Given the description of an element on the screen output the (x, y) to click on. 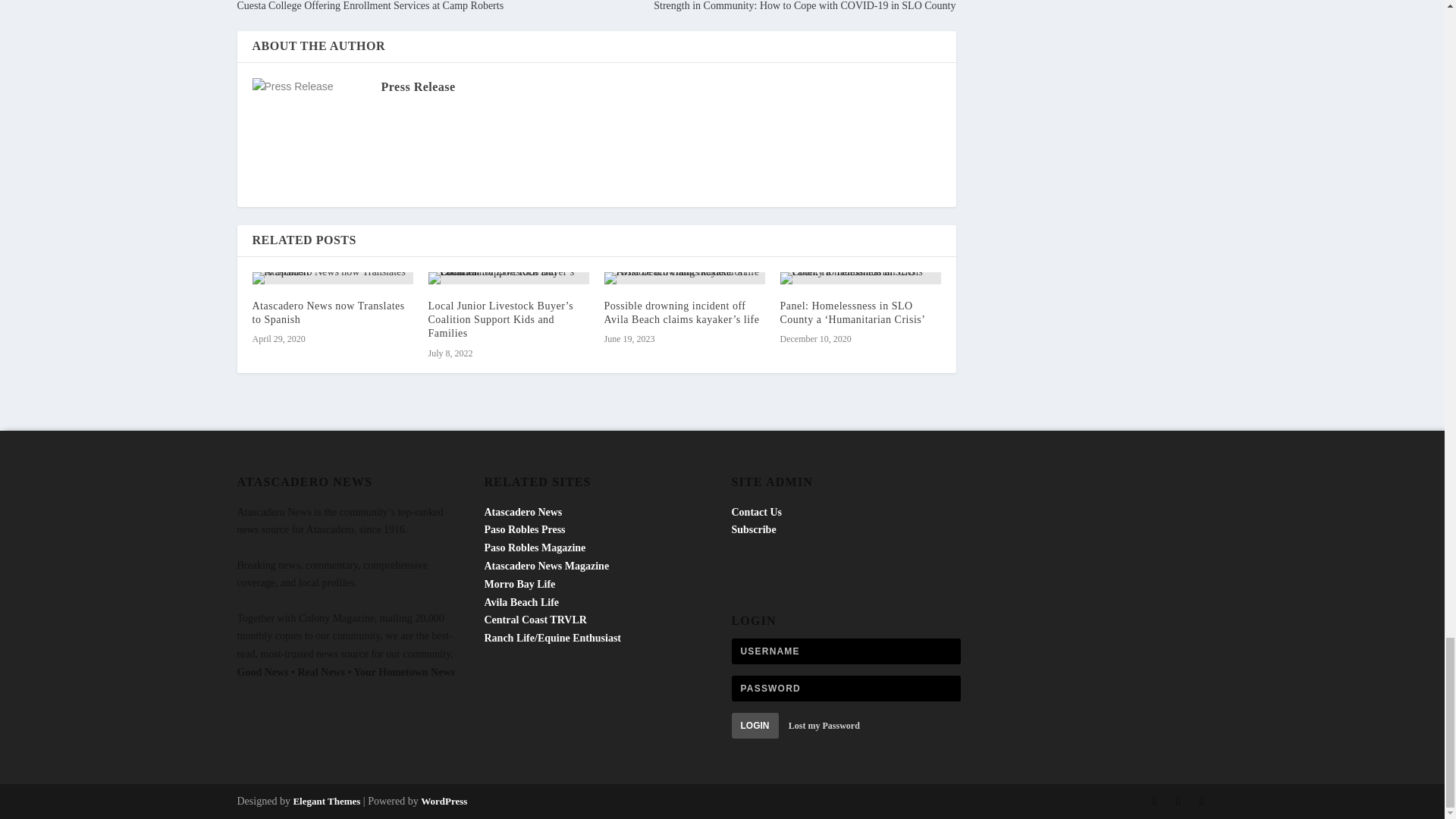
Press Release (417, 86)
Atascadero News now Translates to Spanish (327, 312)
Atascadero News now Translates to Spanish (331, 277)
View all posts by Press Release (417, 86)
